Given the description of an element on the screen output the (x, y) to click on. 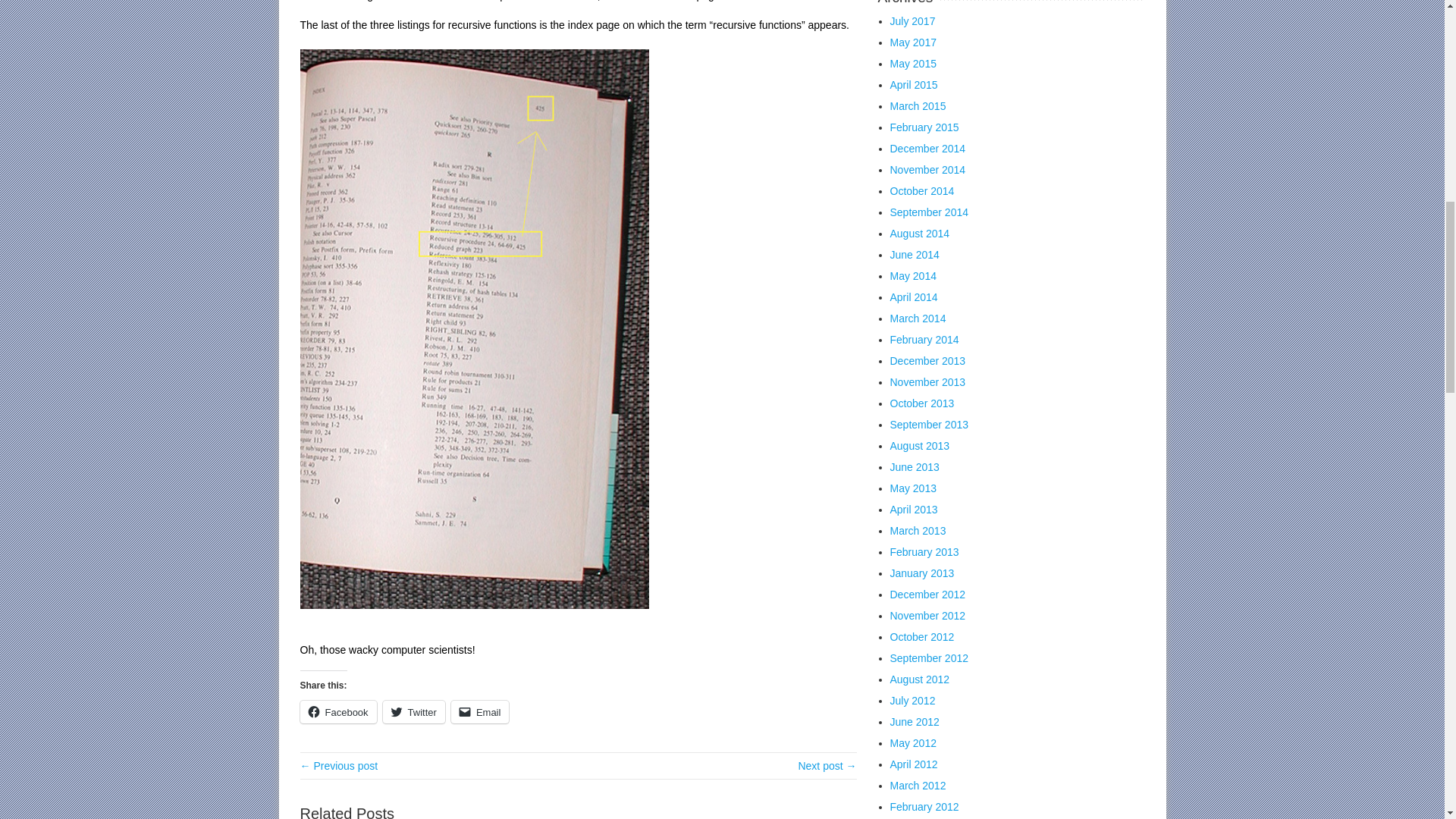
Click to share on Facebook (338, 712)
Two Thanksgiving Day traditional foods (826, 766)
Click to email a link to a friend (480, 712)
Email (480, 712)
Twitter (413, 712)
Changing communication and learning (338, 766)
Click to share on Twitter (413, 712)
Facebook (338, 712)
